Given the description of an element on the screen output the (x, y) to click on. 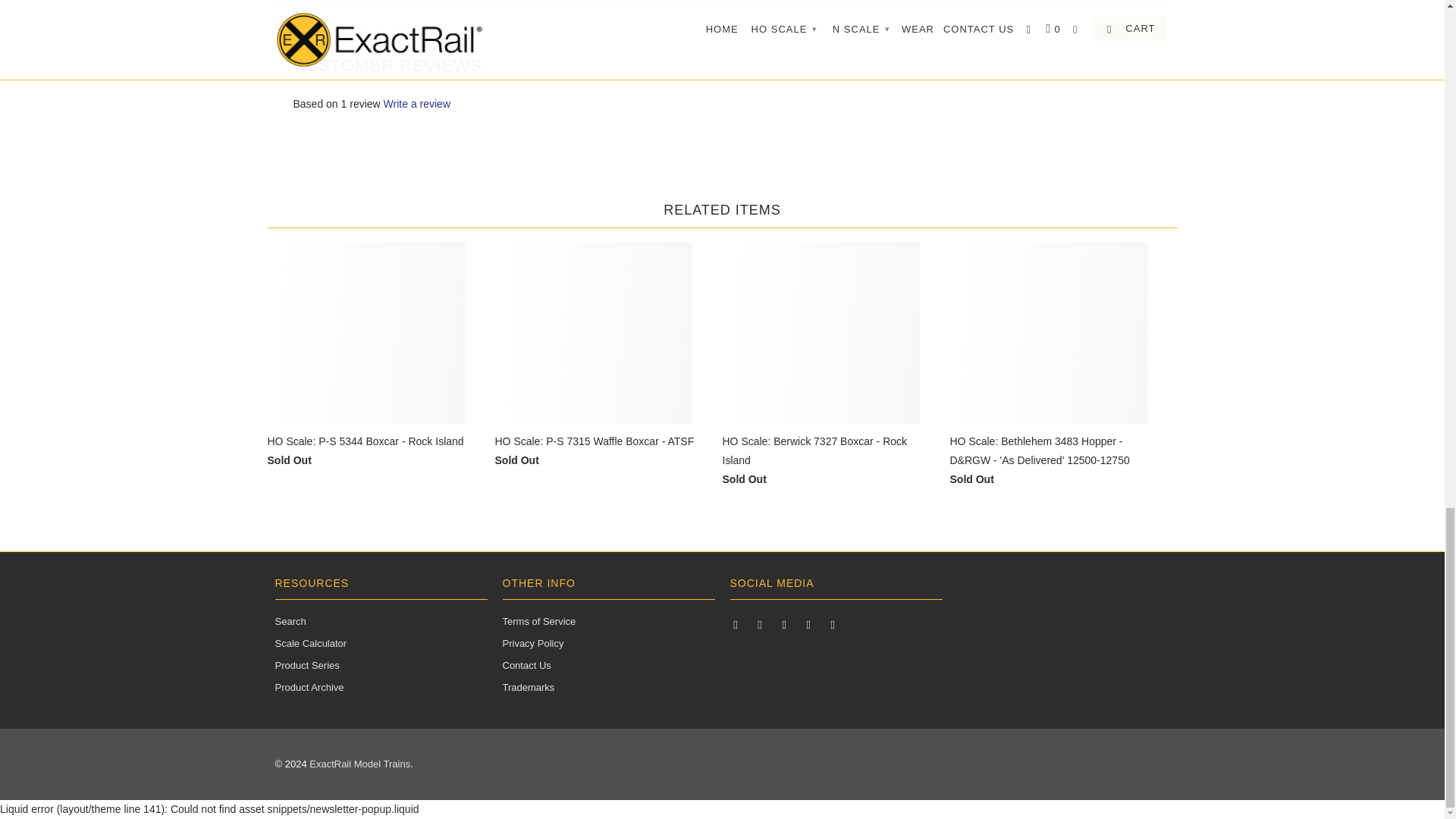
ExactRail Model Trains on Twitter (735, 622)
Email this to a friend (400, 25)
Share this on Twitter (317, 25)
Share this on Pinterest (359, 25)
Share this on Facebook (338, 25)
ExactRail Model Trains on Facebook (761, 622)
